Given the description of an element on the screen output the (x, y) to click on. 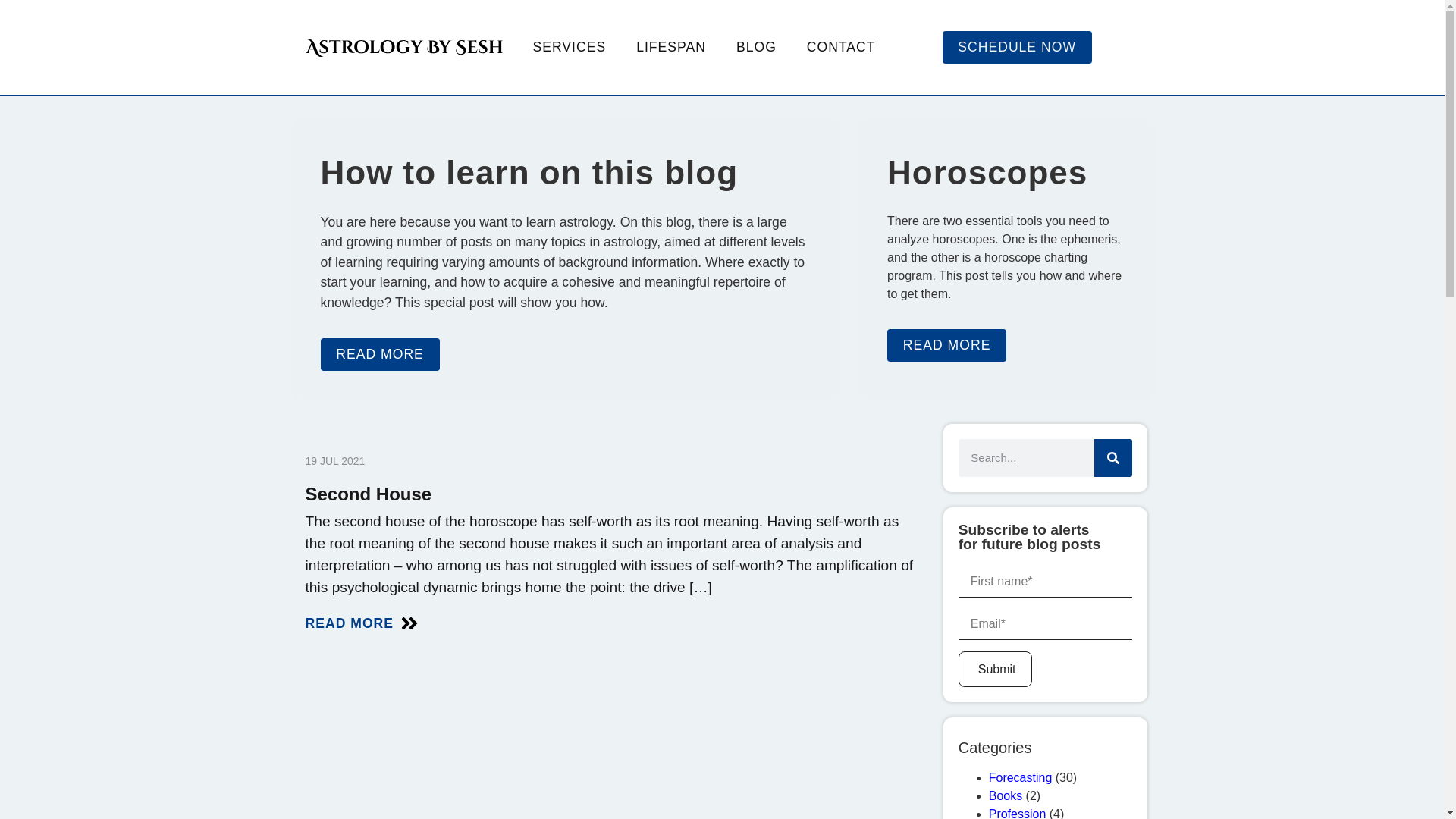
SERVICES (568, 47)
READ MORE (379, 354)
Profession (1017, 813)
SCHEDULE NOW (1016, 47)
Second House (367, 494)
CONTACT (841, 47)
Submit (995, 669)
Forecasting (1020, 777)
LIFESPAN (670, 47)
READ MORE (946, 345)
BLOG (756, 47)
READ MORE (612, 625)
Books (1005, 795)
